Given the description of an element on the screen output the (x, y) to click on. 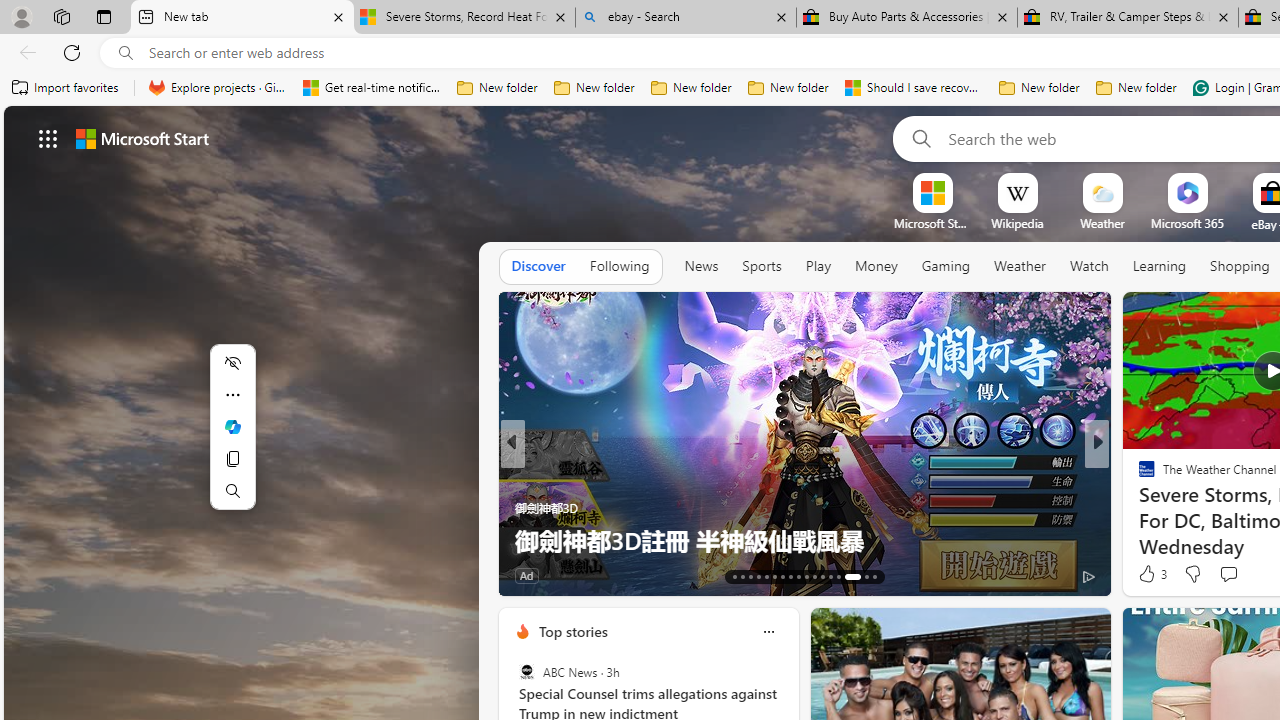
Dailymotion (1138, 507)
News (701, 265)
Following (619, 267)
Weather (1020, 265)
View comments 8 Comment (1229, 575)
More Options (1219, 179)
ebay - Search (686, 17)
116 Like (535, 574)
Personal Profile (21, 16)
Search icon (125, 53)
Play (817, 265)
Watch (1089, 265)
The History of the Windows Start Menu (804, 539)
